Given the description of an element on the screen output the (x, y) to click on. 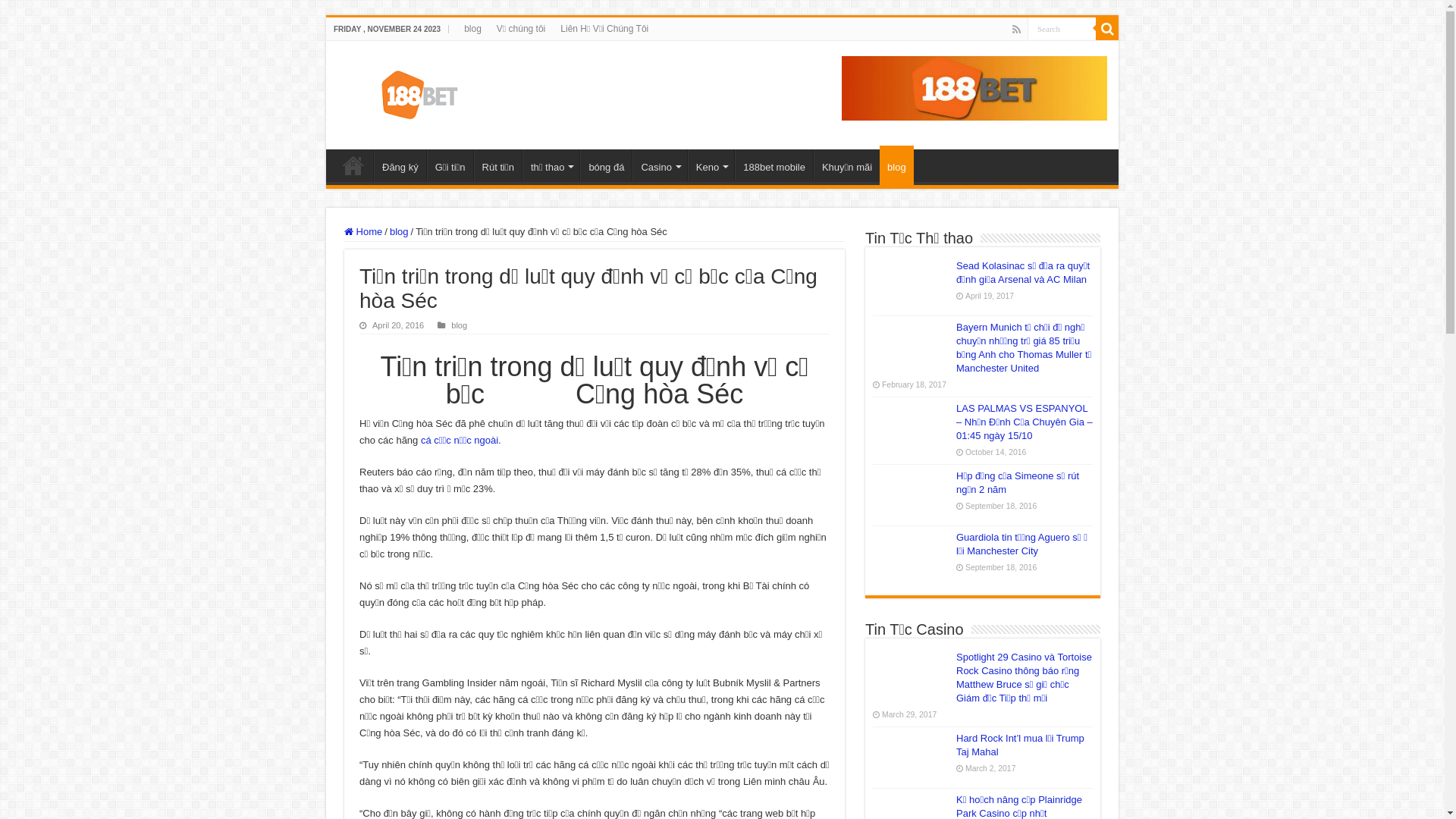
Search Element type: hover (1061, 28)
188bet mobile Element type: text (773, 165)
blog Element type: text (896, 165)
188bet Element type: text (353, 165)
Casino Element type: text (659, 165)
Keno Element type: text (710, 165)
Rss Element type: hover (1016, 29)
188Bet Element type: hover (414, 92)
blog Element type: text (459, 324)
Home Element type: text (363, 231)
Search Element type: text (1106, 28)
blog Element type: text (472, 28)
blog Element type: text (398, 231)
